Given the description of an element on the screen output the (x, y) to click on. 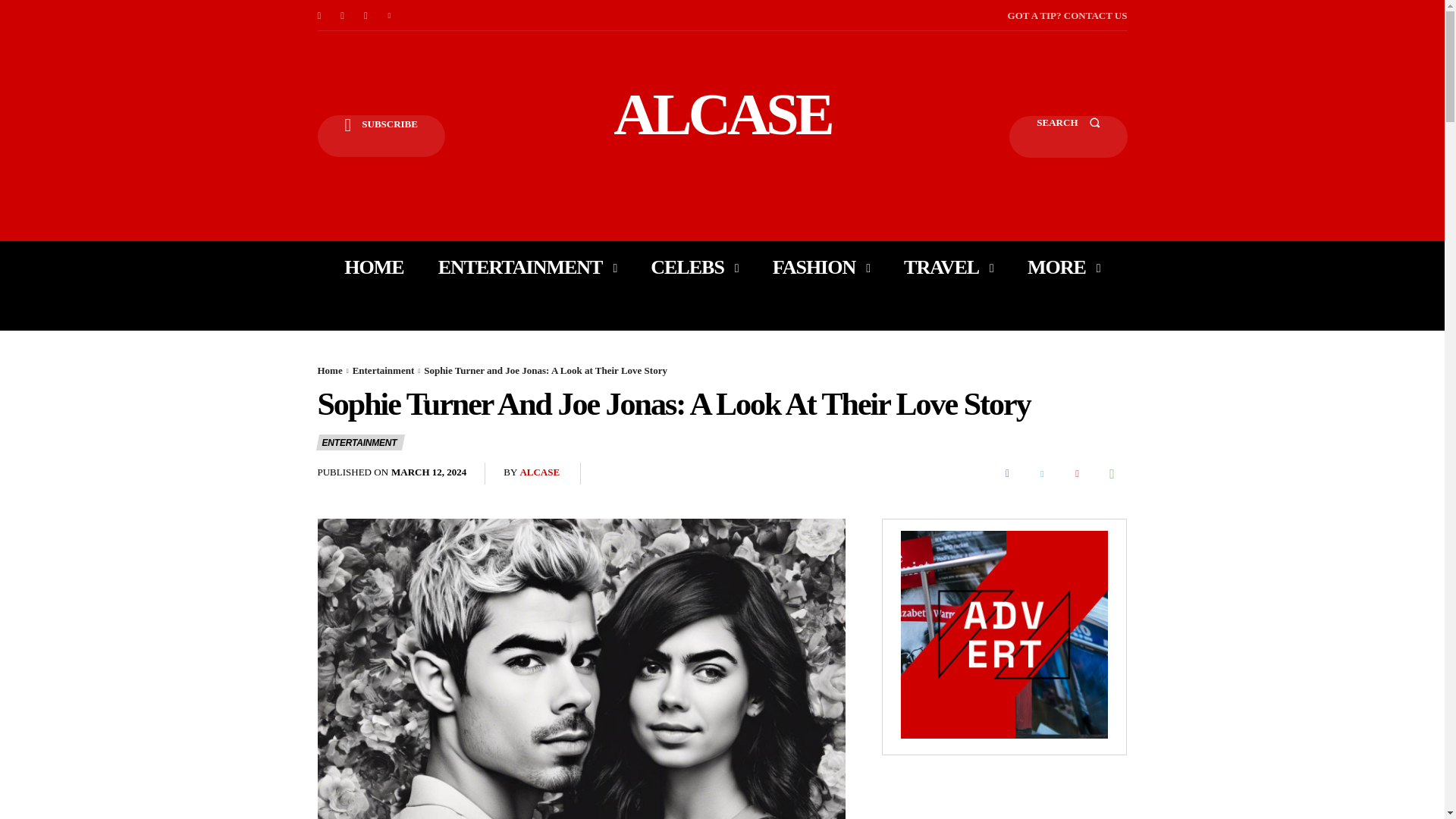
ALCASE (722, 113)
SEARCH (1067, 137)
GOT A TIP? CONTACT US (1066, 15)
Instagram (342, 15)
Twitter (389, 15)
TikTok (366, 15)
SUBSCRIBE (380, 136)
Facebook (318, 15)
